Given the description of an element on the screen output the (x, y) to click on. 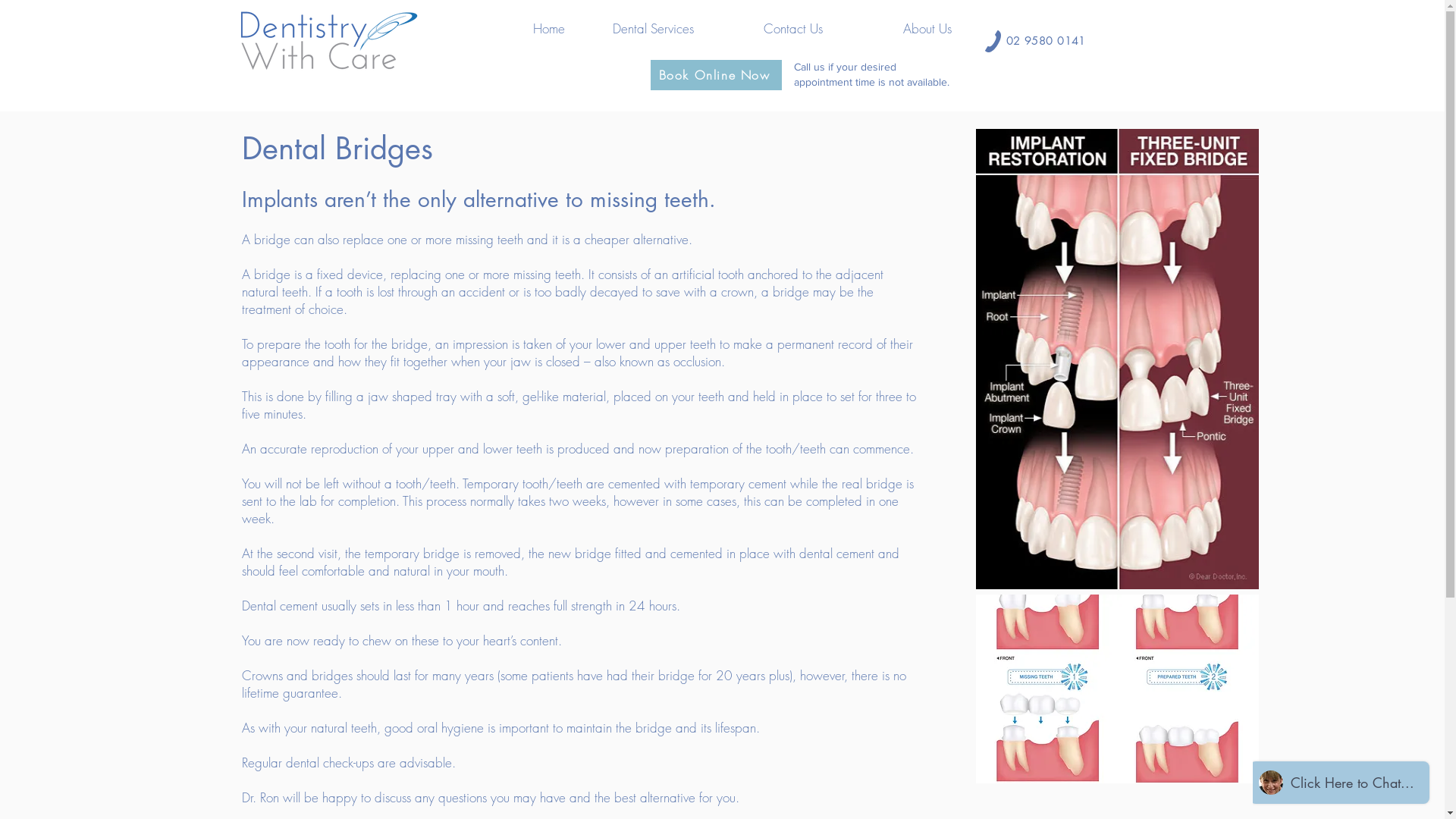
Book Online Now Element type: text (715, 74)
Contact Us Element type: text (769, 28)
Home Element type: text (511, 28)
About Us Element type: text (898, 28)
02 9580 0141 Element type: text (1045, 40)
Dental Services Element type: text (640, 28)
